Given the description of an element on the screen output the (x, y) to click on. 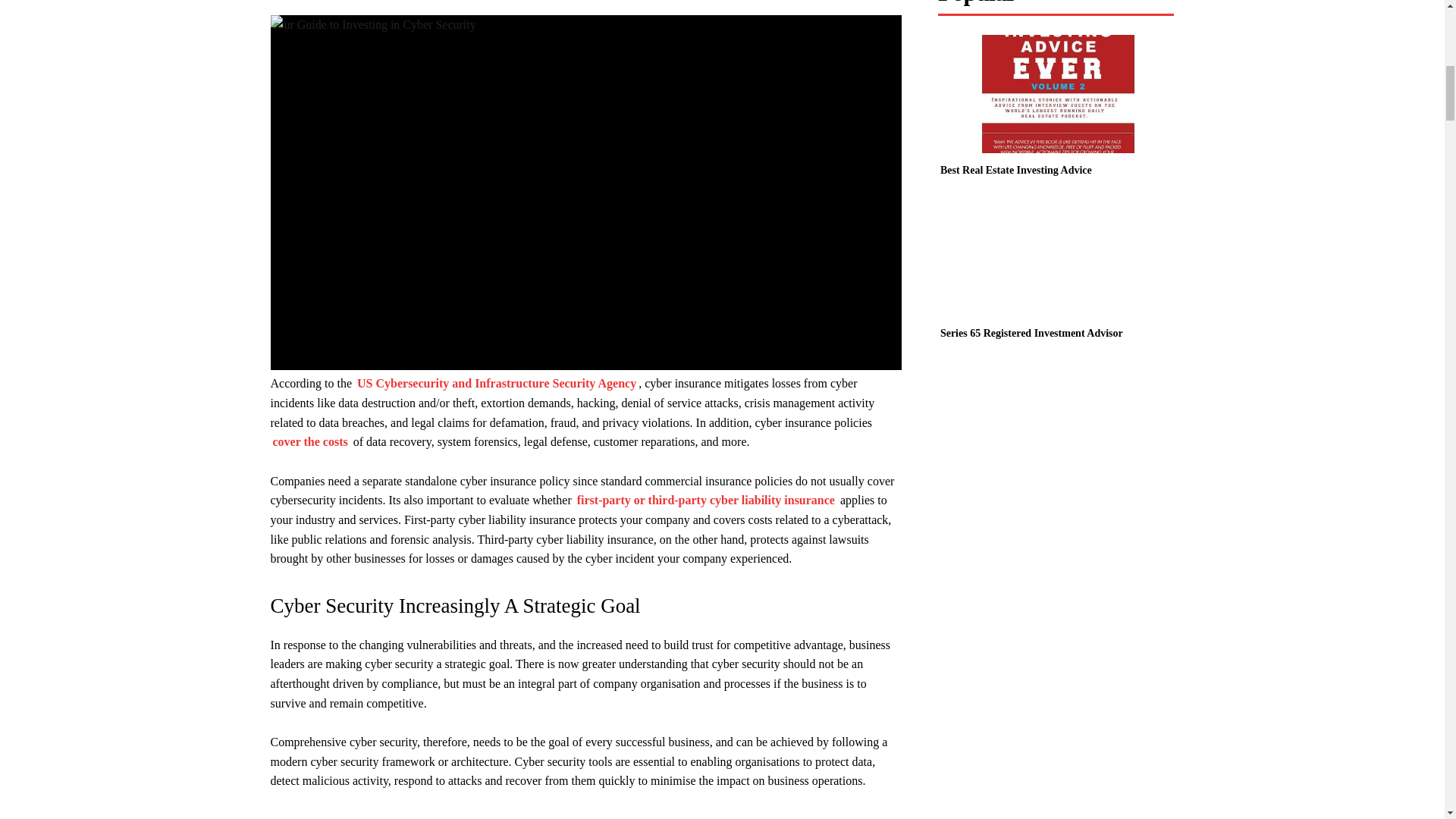
Series 65 Registered Investment Advisor (1031, 333)
Best Real Estate Investing Advice (1055, 94)
Series 65 Registered Investment Advisor (1055, 257)
Best Real Estate Investing Advice (1015, 170)
